Given the description of an element on the screen output the (x, y) to click on. 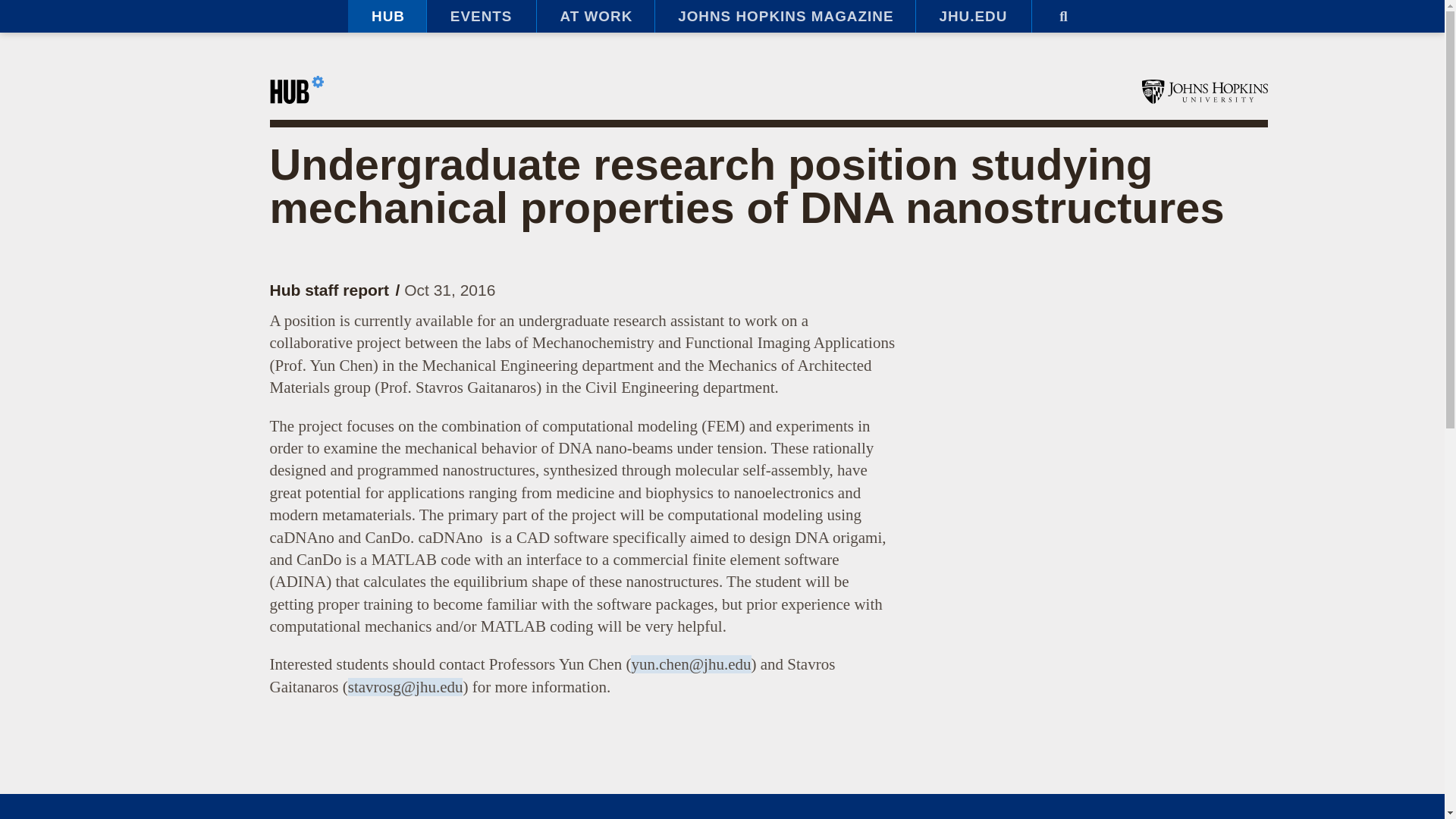
AT WORK (594, 16)
JOHNS HOPKINS MAGAZINE (784, 16)
HUB (386, 16)
Johns Hopkins University (1204, 91)
EVENTS (480, 16)
JHU.EDU (972, 16)
